Given the description of an element on the screen output the (x, y) to click on. 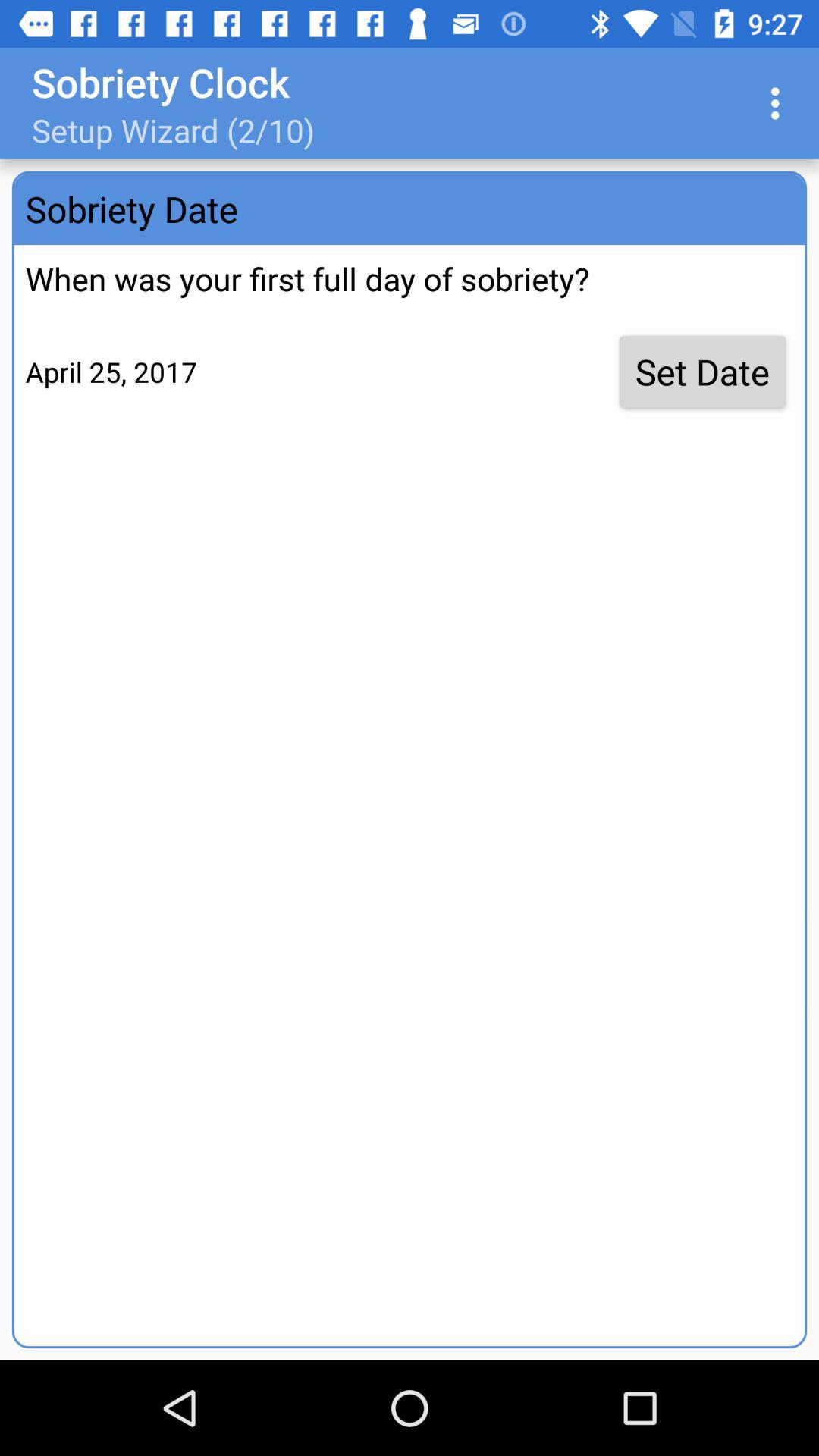
open item next to the setup wizard 2 icon (779, 103)
